Given the description of an element on the screen output the (x, y) to click on. 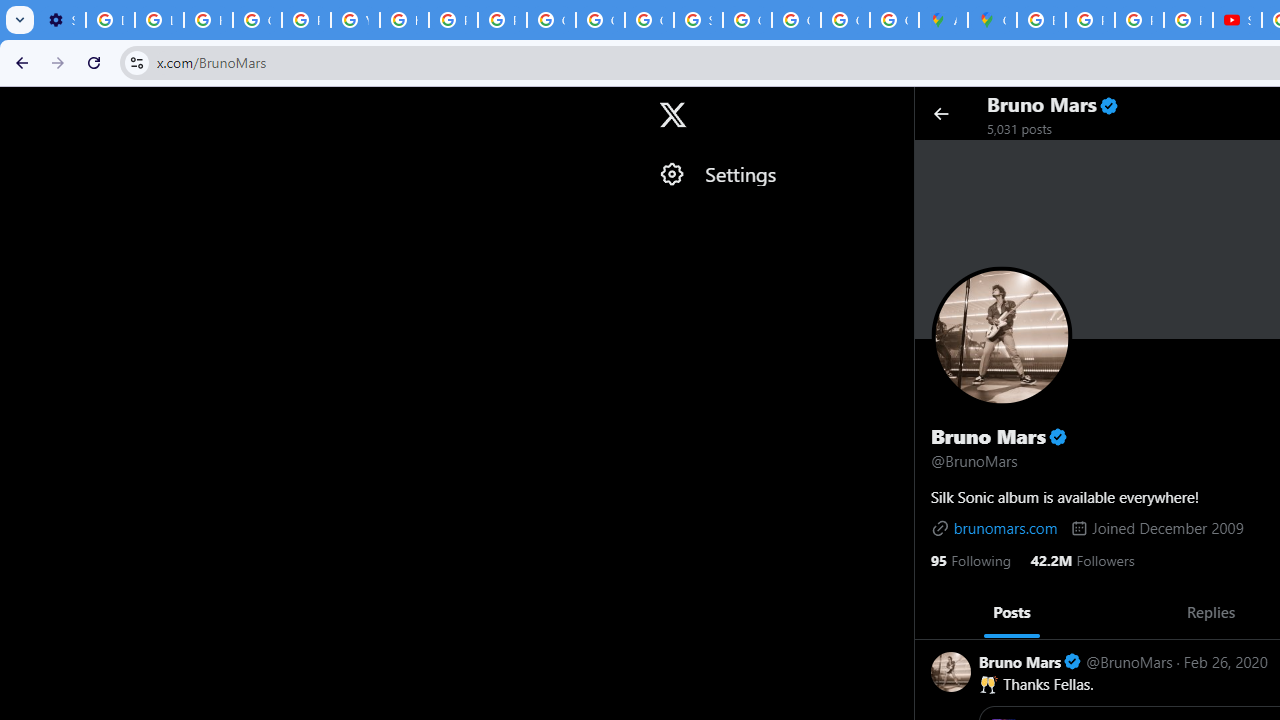
Blogger Policies and Guidelines - Transparency Center (1041, 20)
Delete photos & videos - Computer - Google Photos Help (109, 20)
Verified account (1071, 661)
Privacy Help Center - Policies Help (452, 20)
Feb 26, 2020 (1225, 660)
Learn how to find your photos - Google Photos Help (159, 20)
Opens profile photo (1001, 336)
42.2M Followers (1082, 559)
Provides details about verified accounts. (1058, 436)
Posts (1011, 611)
https://scholar.google.com/ (404, 20)
95 Following (970, 559)
Bruno Mars Verified account (1030, 660)
